Given the description of an element on the screen output the (x, y) to click on. 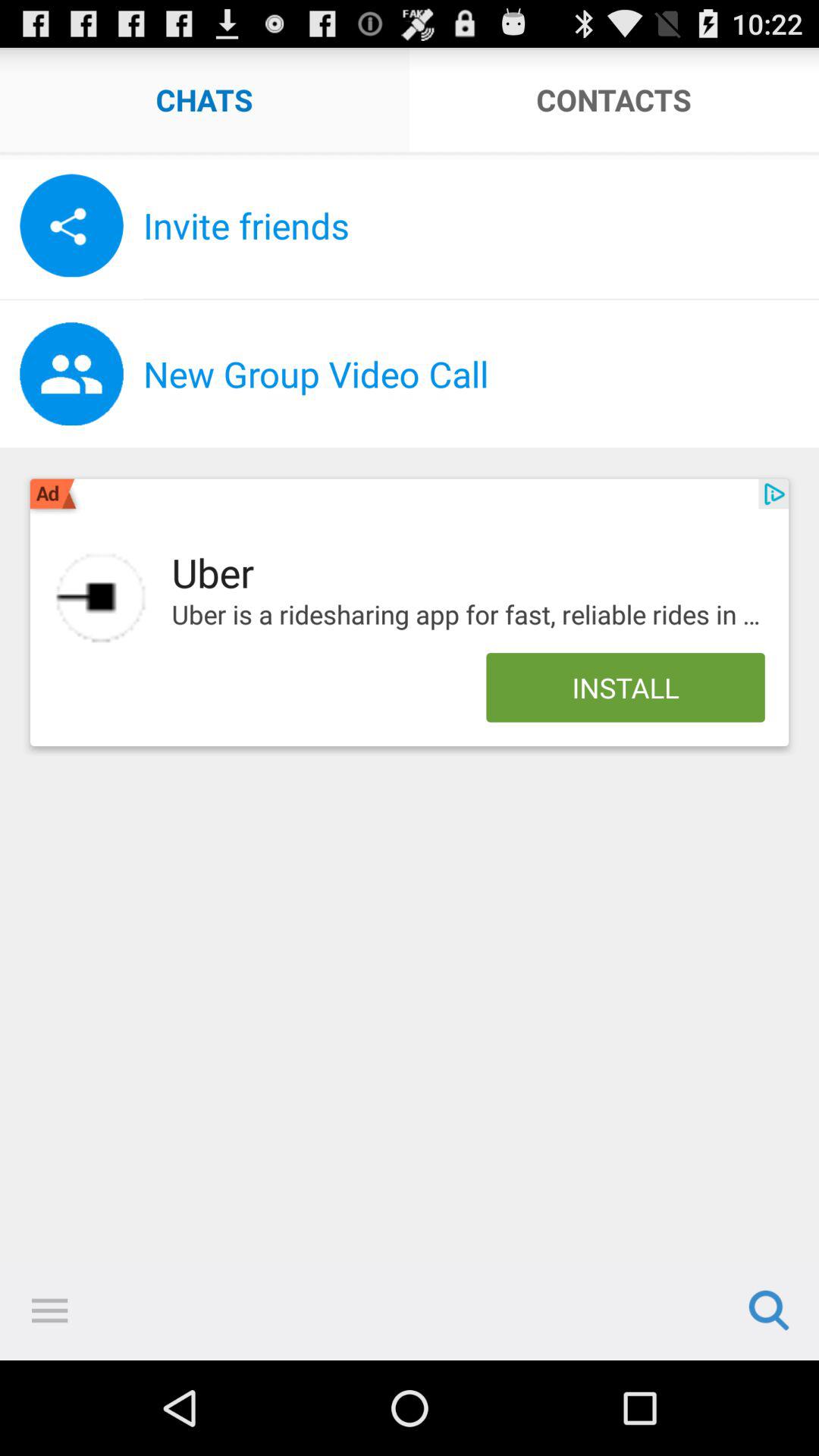
flip until the install app (625, 687)
